Given the description of an element on the screen output the (x, y) to click on. 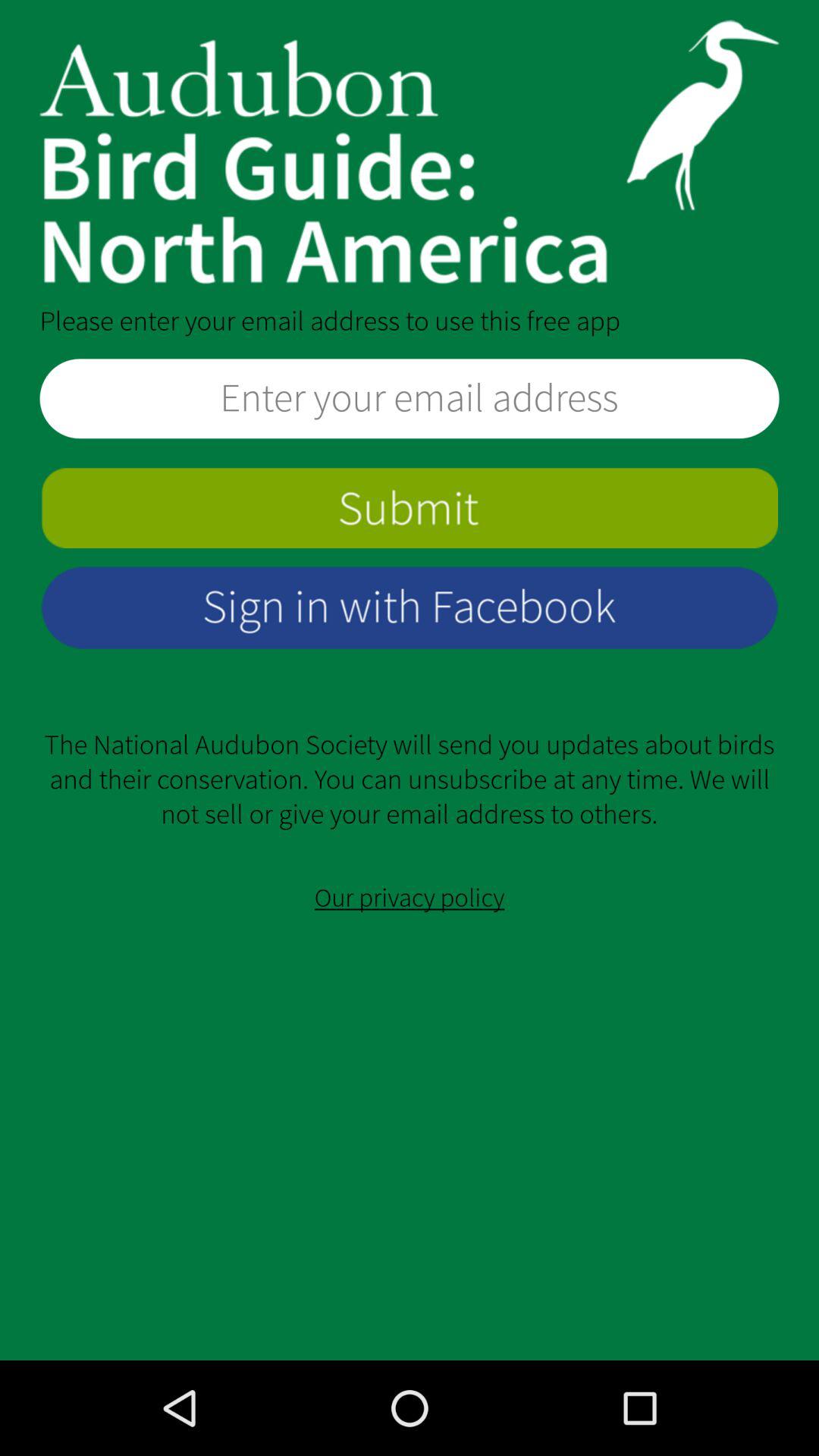
submit email address (409, 507)
